Given the description of an element on the screen output the (x, y) to click on. 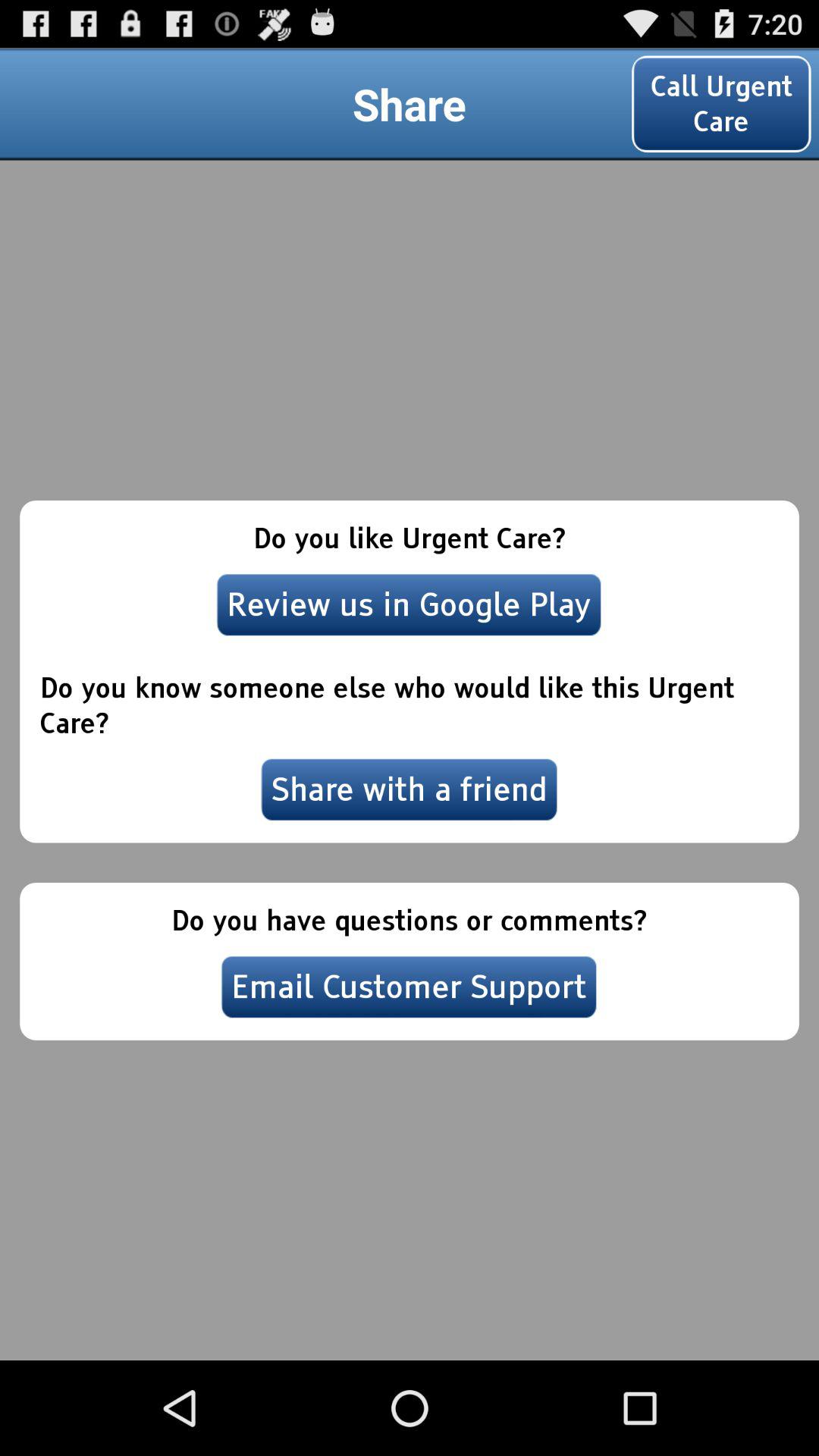
launch email customer support item (408, 986)
